Given the description of an element on the screen output the (x, y) to click on. 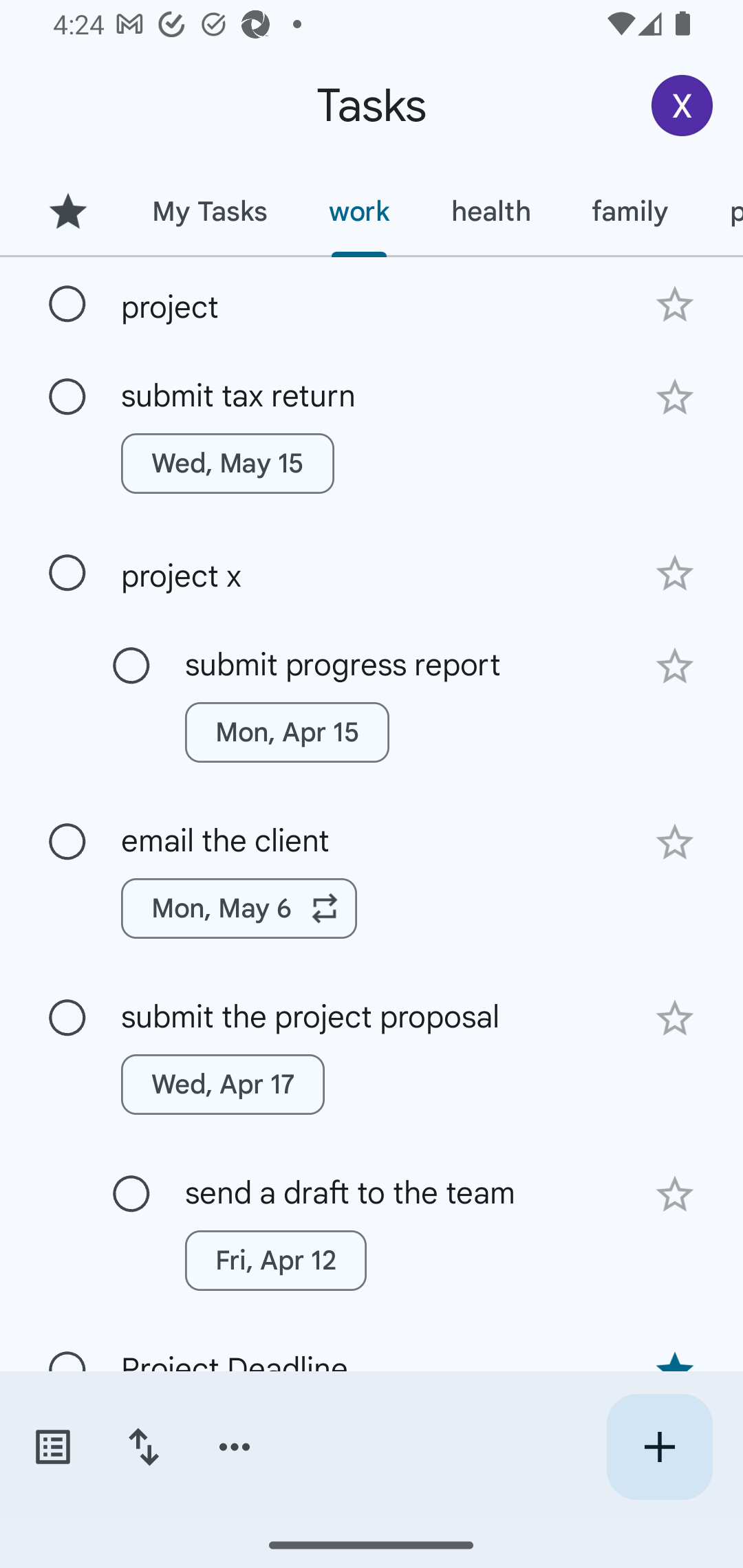
Starred (67, 211)
My Tasks (209, 211)
health (490, 211)
family (629, 211)
project project Add star Mark as complete (371, 303)
Add star (674, 303)
Mark as complete (67, 304)
Add star (674, 397)
Mark as complete (67, 397)
Wed, May 15 (227, 463)
Add star (674, 573)
Mark as complete (67, 572)
Add star (674, 665)
Mark as complete (131, 666)
Mon, Apr 15 (287, 731)
Add star (674, 841)
Mark as complete (67, 842)
Mon, May 6 (239, 907)
Add star (674, 1018)
Mark as complete (67, 1018)
Wed, Apr 17 (222, 1084)
Add star (674, 1194)
Mark as complete (131, 1193)
Fri, Apr 12 (276, 1260)
Switch task lists (52, 1447)
Create new task (659, 1446)
Change sort order (143, 1446)
More options (234, 1446)
